Given the description of an element on the screen output the (x, y) to click on. 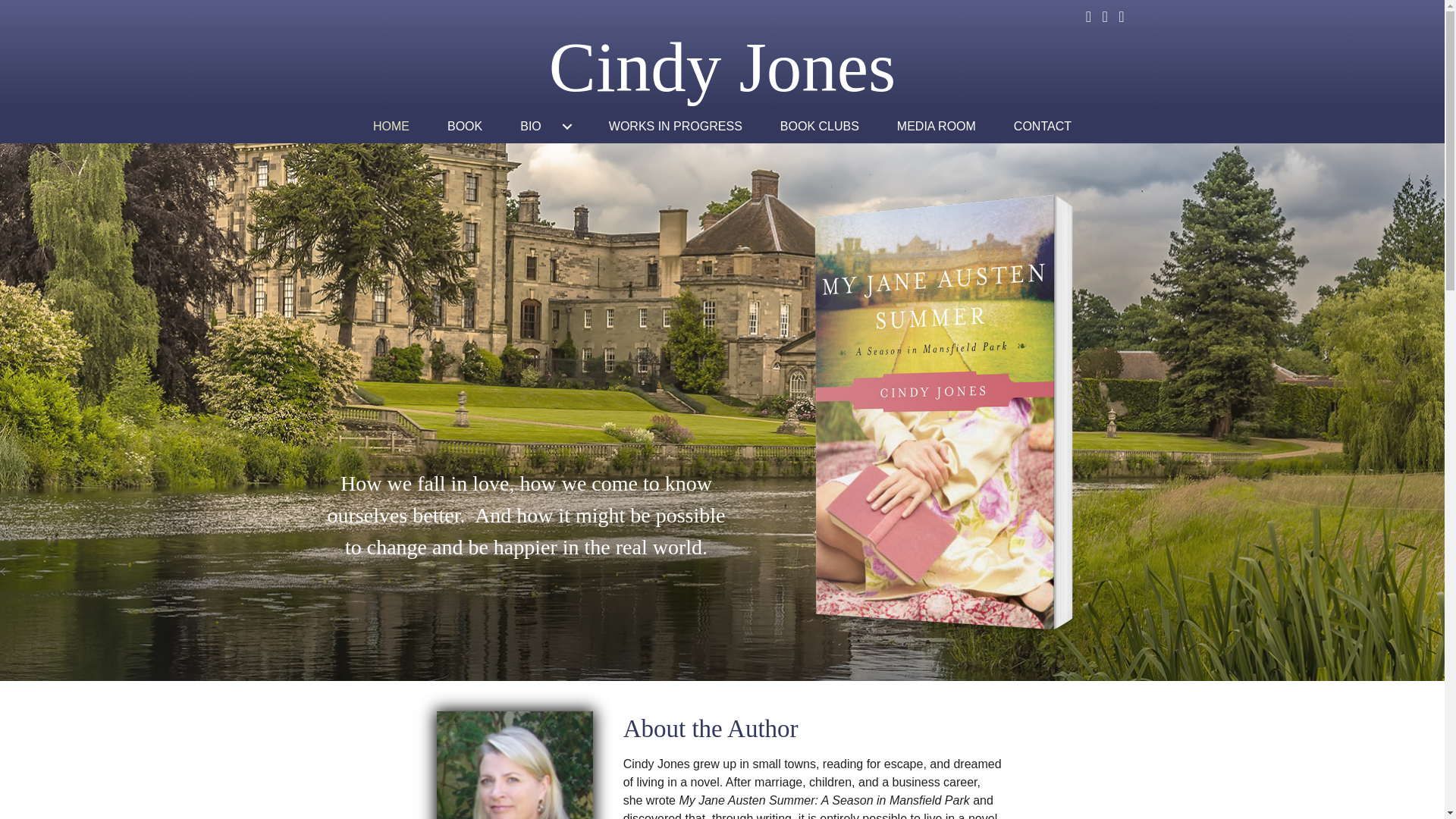
HOME (390, 126)
BIO (544, 126)
M5e833c4c6f9f1c862e09619ae774ca701681735823203 (514, 765)
BOOK CLUBS (819, 126)
Cindy Jones (721, 66)
MEDIA ROOM (935, 126)
CONTACT (1042, 126)
WORKS IN PROGRESS (675, 126)
Cindy Jones (721, 66)
BOOK (464, 126)
